Given the description of an element on the screen output the (x, y) to click on. 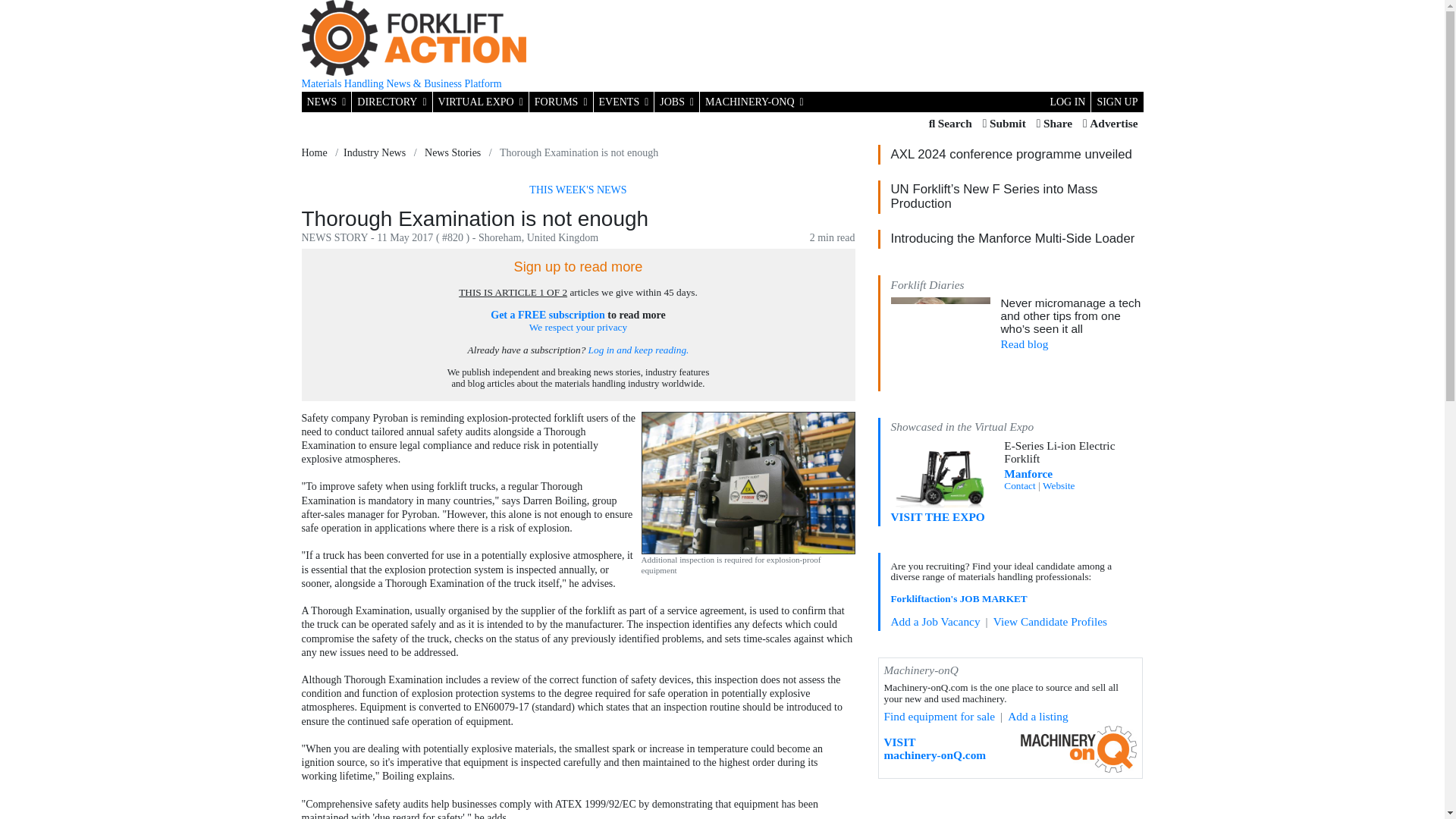
Share this page (1053, 124)
FORUMS (560, 101)
NEWS (326, 101)
Submit your content (1003, 124)
DIRECTORY (391, 101)
VIRTUAL EXPO (480, 101)
